Given the description of an element on the screen output the (x, y) to click on. 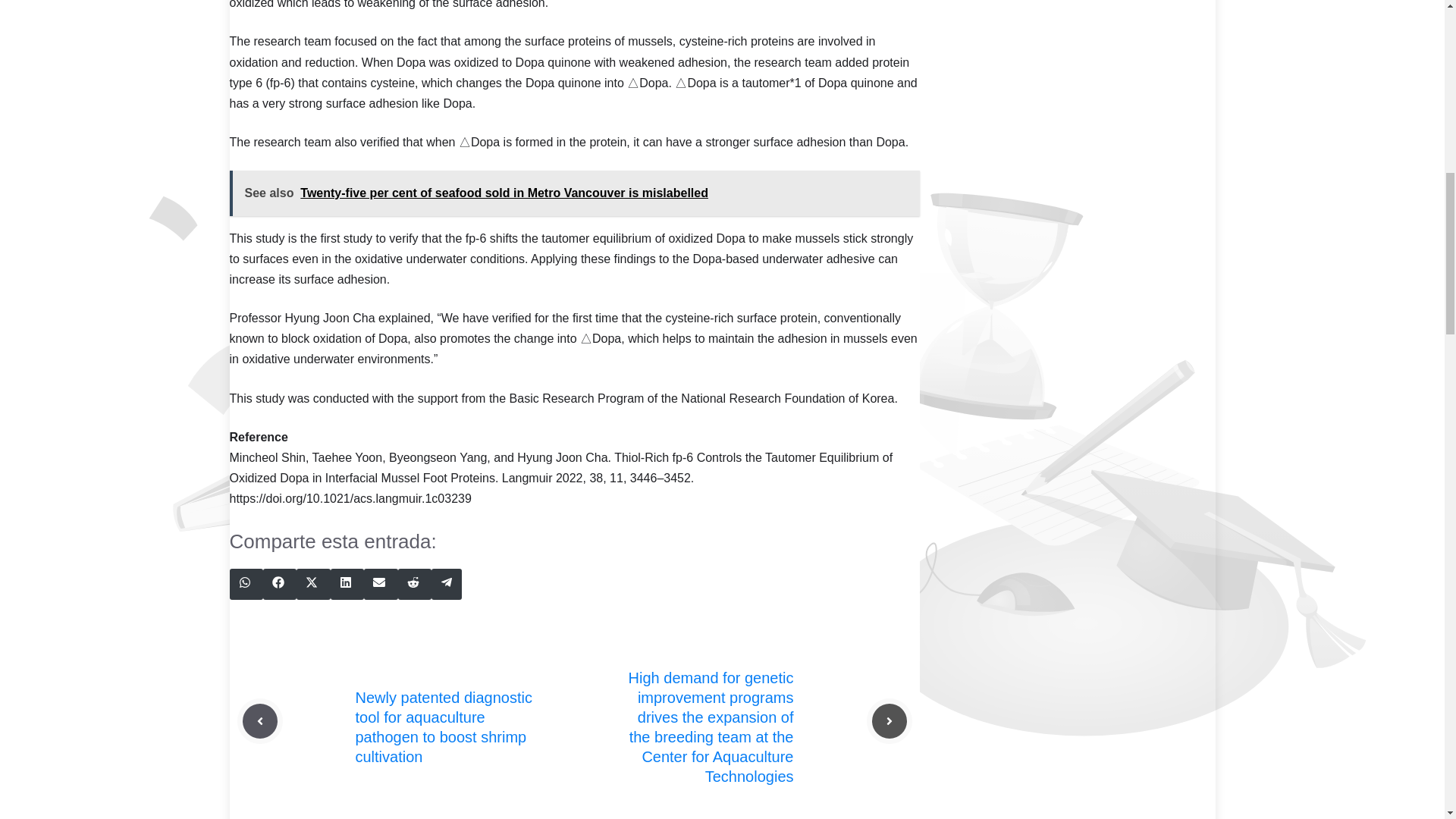
Share on Email (380, 583)
Scroll back to top (1406, 720)
Share on WhatsApp (245, 583)
Share on Telegram (445, 583)
Share on Reddit (413, 583)
Share on Facebook (280, 583)
Share on LinkedIn (347, 583)
